Given the description of an element on the screen output the (x, y) to click on. 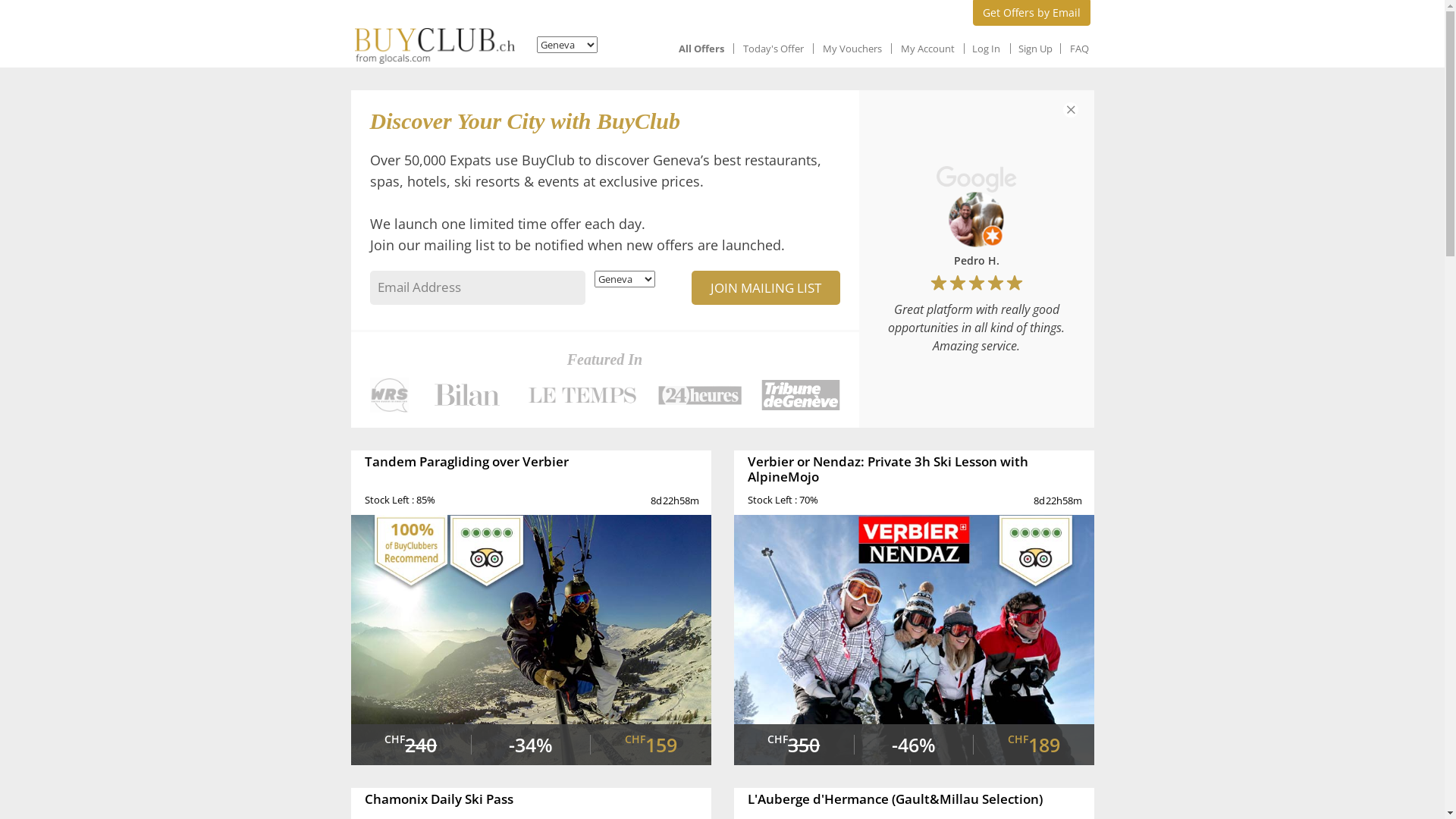
FAQ Element type: text (1078, 48)
Sign Up Element type: text (1034, 48)
Log In Element type: text (986, 48)
Today's Offer Element type: text (773, 48)
My Account Element type: text (927, 48)
My Vouchers Element type: text (851, 48)
All Offers Element type: text (700, 48)
JOIN MAILING LIST Element type: text (765, 287)
Get Offers by Email Element type: text (1030, 12)
